Given the description of an element on the screen output the (x, y) to click on. 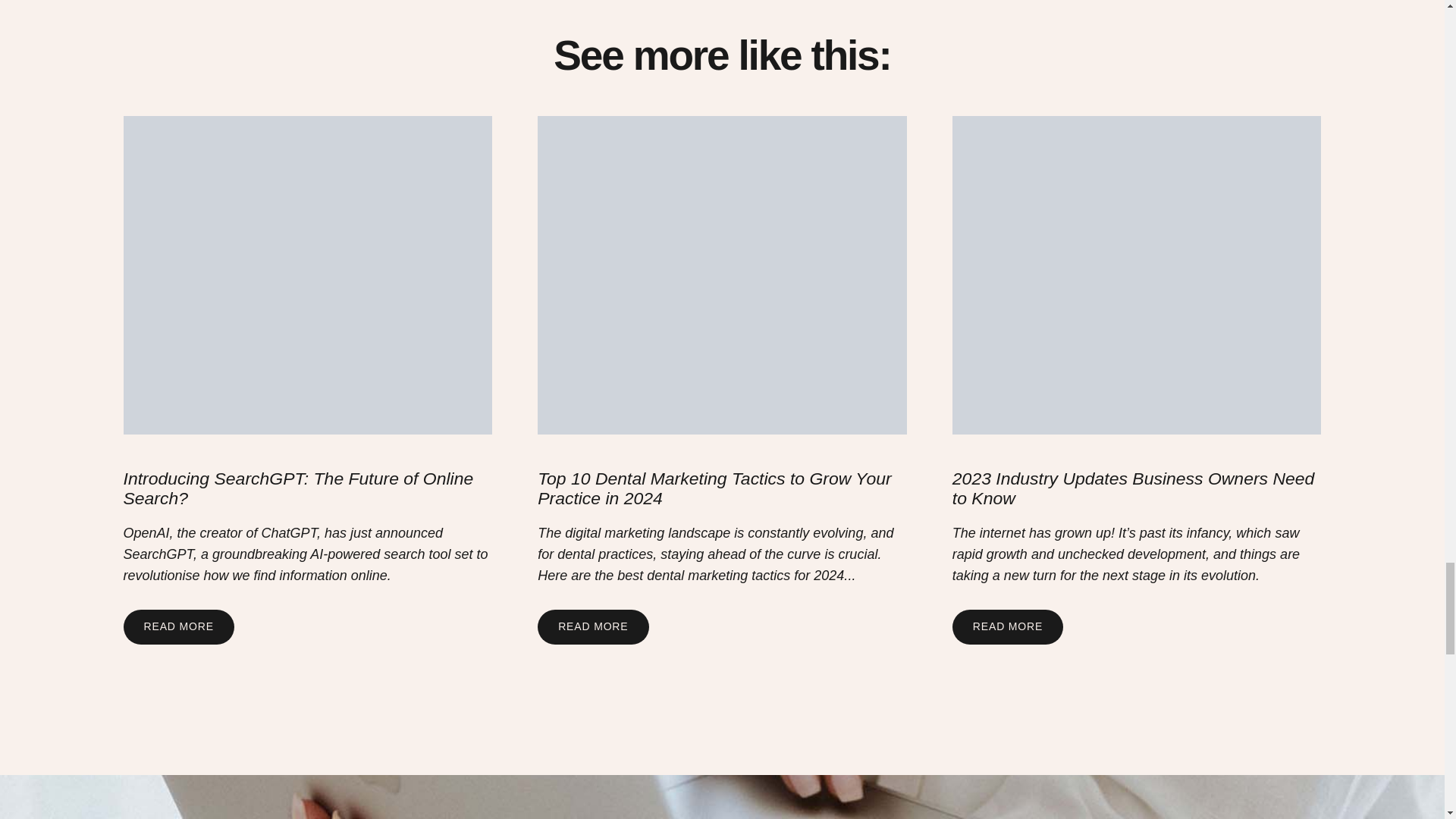
READ MORE (177, 626)
READ MORE (592, 626)
READ MORE (1007, 626)
